Given the description of an element on the screen output the (x, y) to click on. 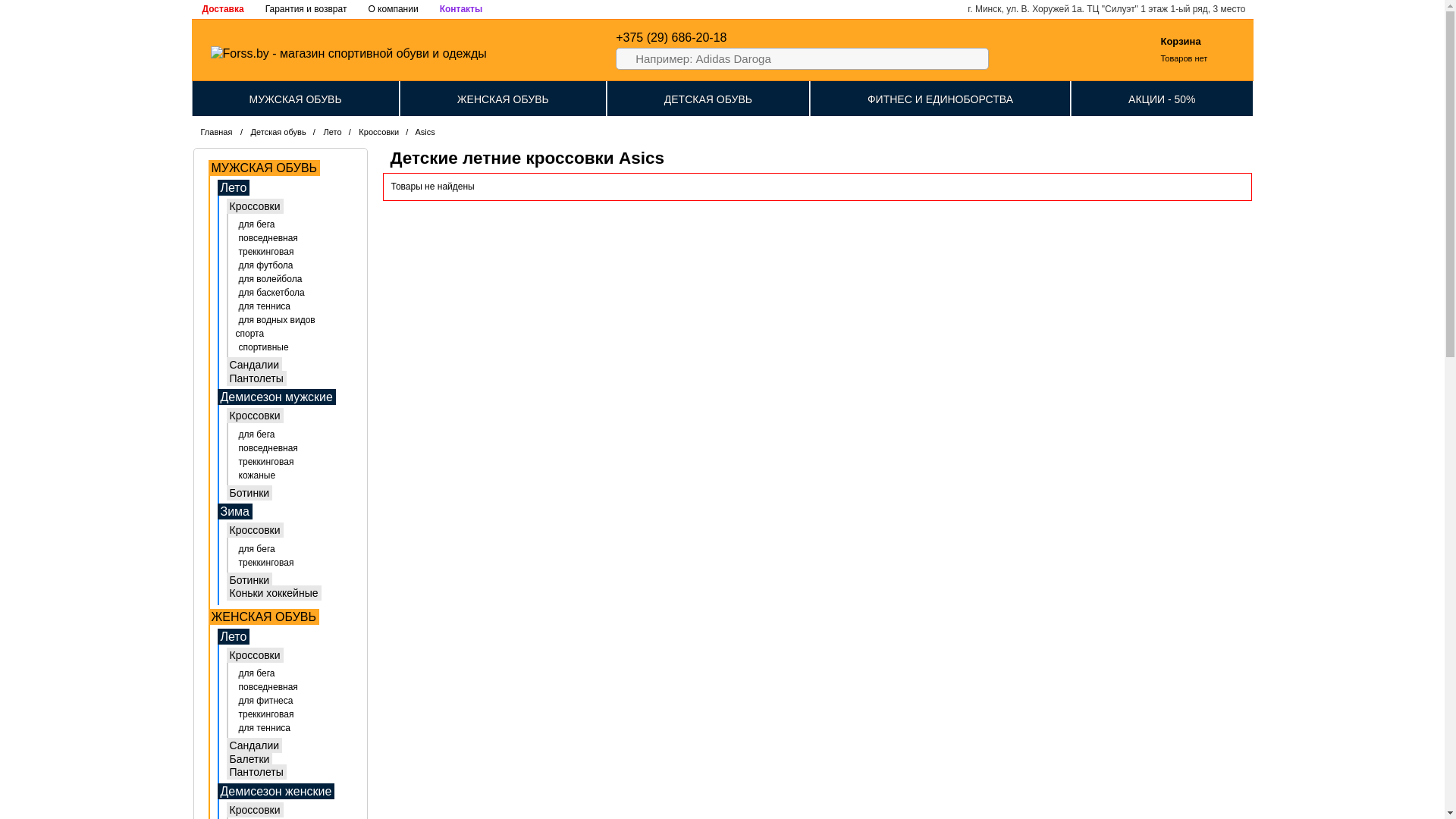
Asics Element type: text (424, 131)
+375 (29) 686-20-18 Element type: text (670, 37)
